Given the description of an element on the screen output the (x, y) to click on. 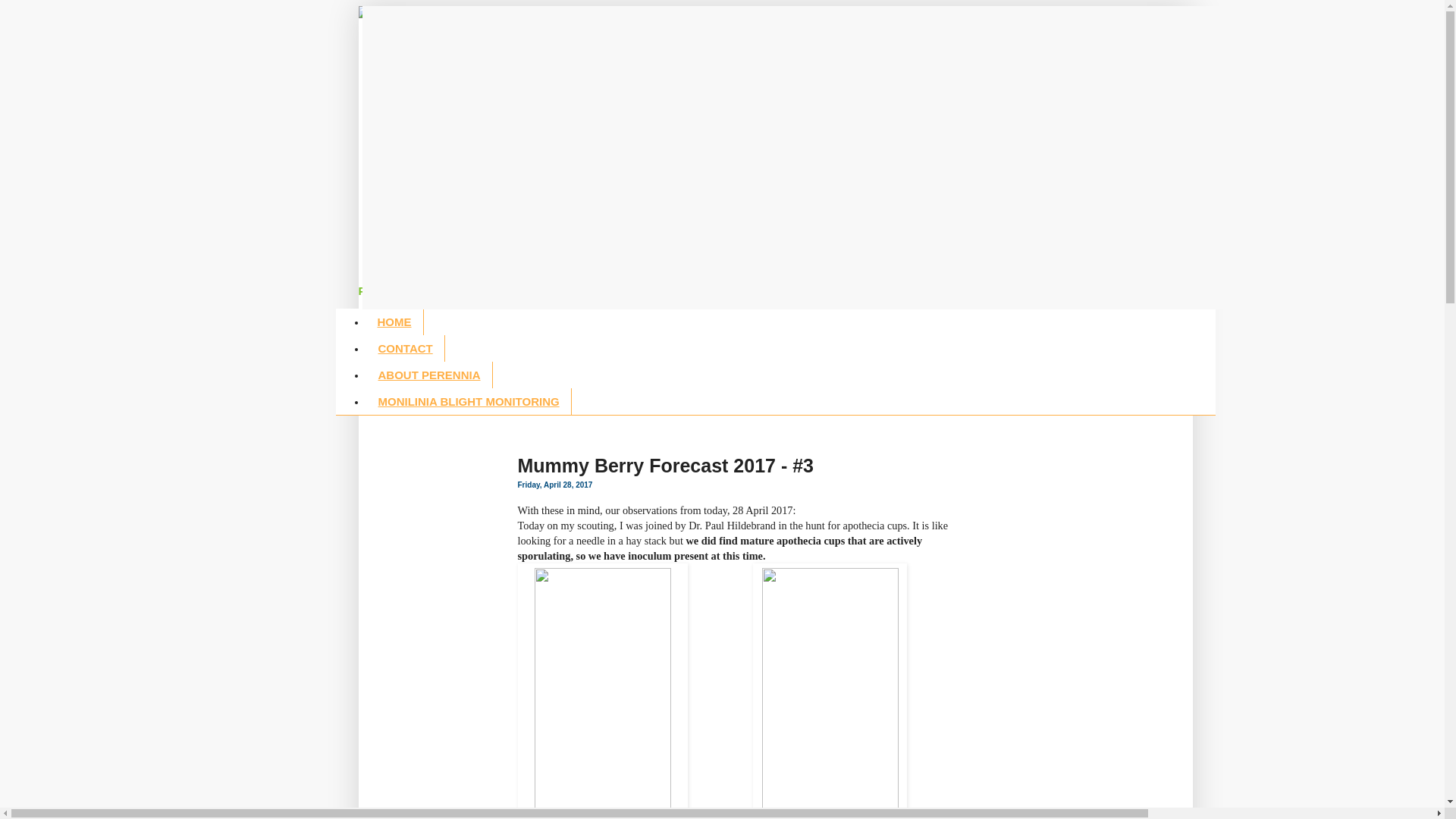
CONTACT Element type: text (404, 348)
MONILINIA BLIGHT MONITORING Element type: text (468, 401)
HOME Element type: text (394, 321)
ABOUT PERENNIA Element type: text (428, 374)
